Given the description of an element on the screen output the (x, y) to click on. 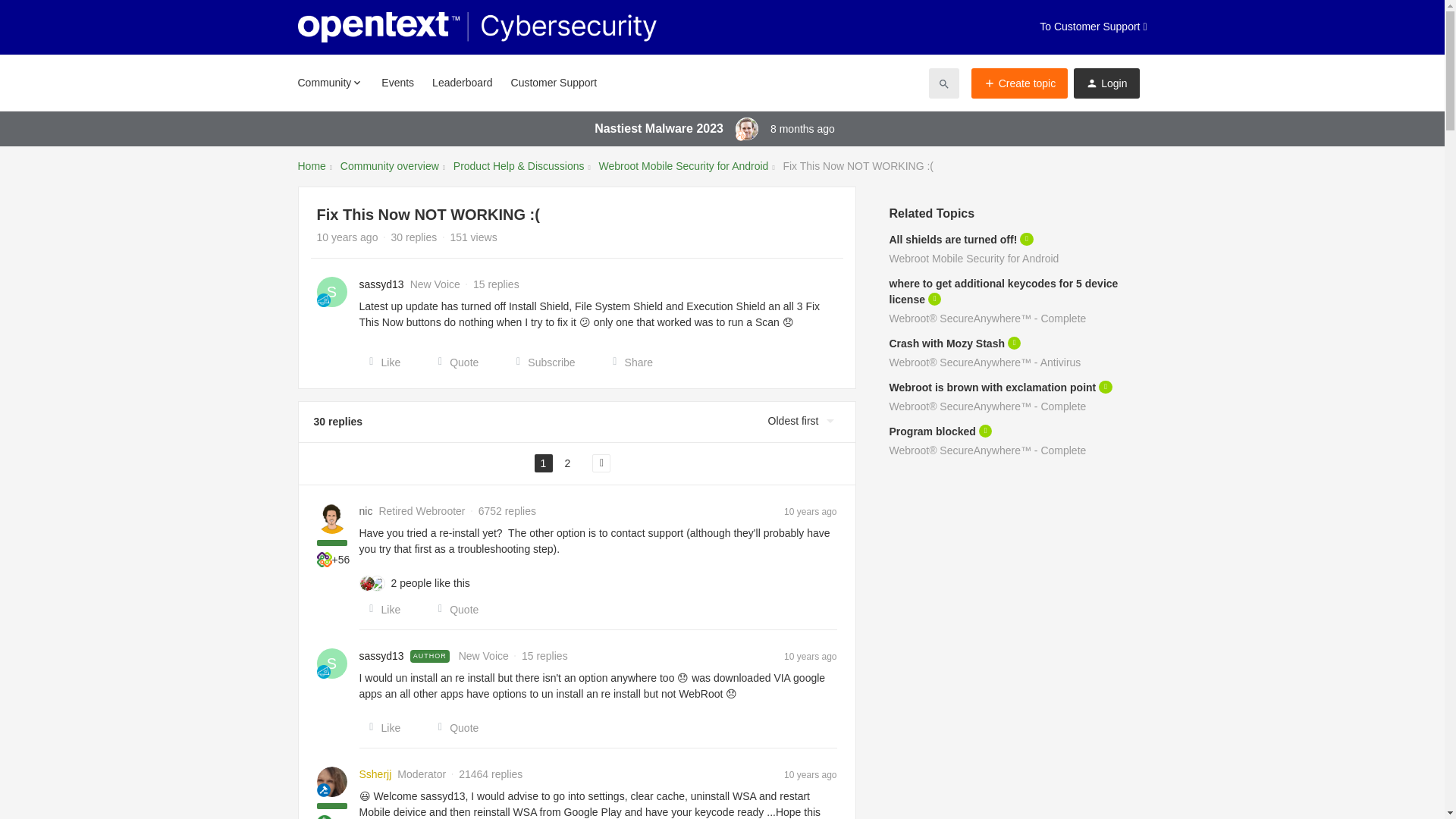
To Customer Support (1093, 26)
Community (329, 82)
